Given the description of an element on the screen output the (x, y) to click on. 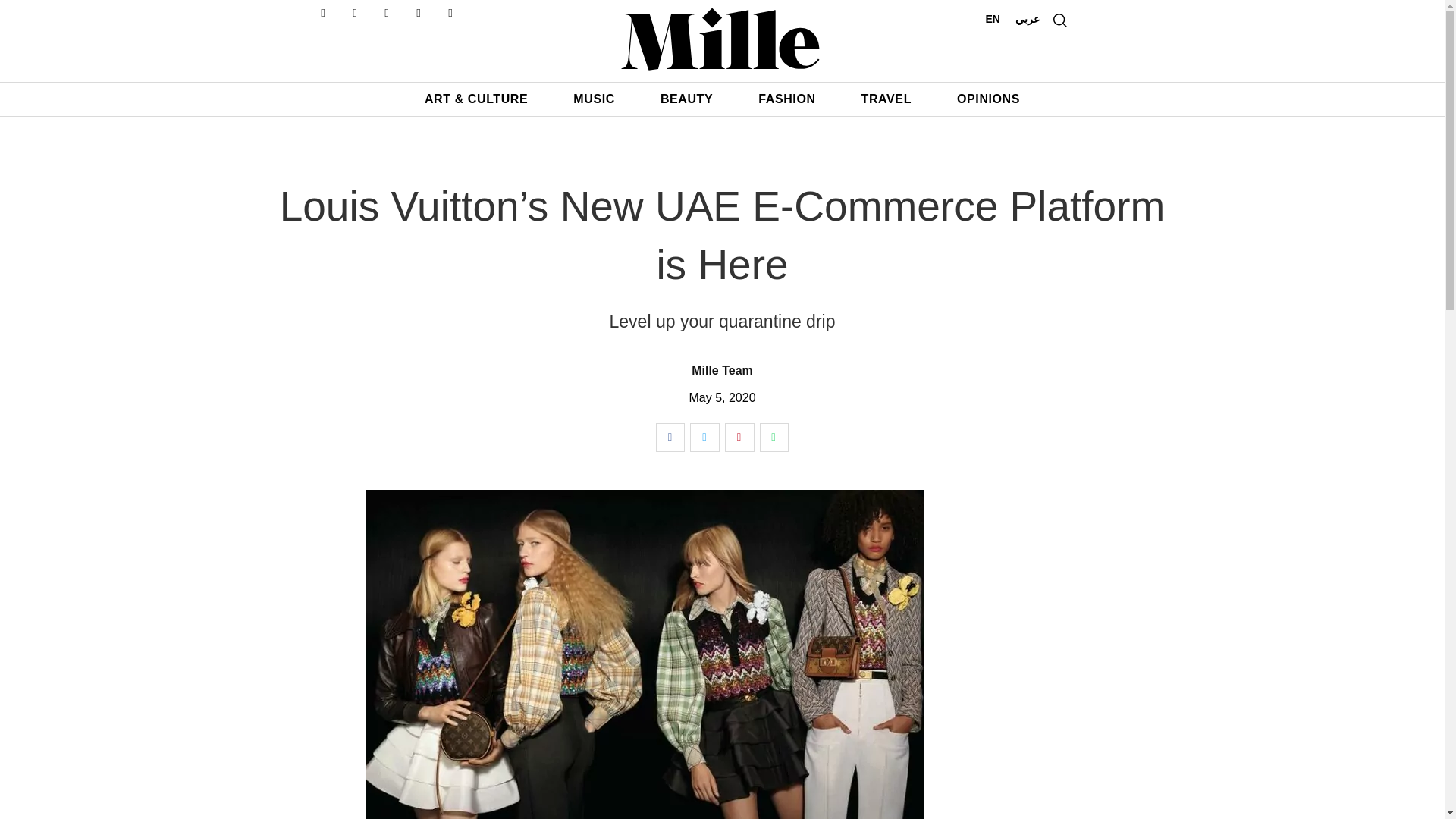
MUSIC (593, 99)
FASHION (786, 99)
EN (992, 18)
OPINIONS (988, 99)
TRAVEL (886, 99)
BEAUTY (687, 99)
Mille Team (721, 369)
